Given the description of an element on the screen output the (x, y) to click on. 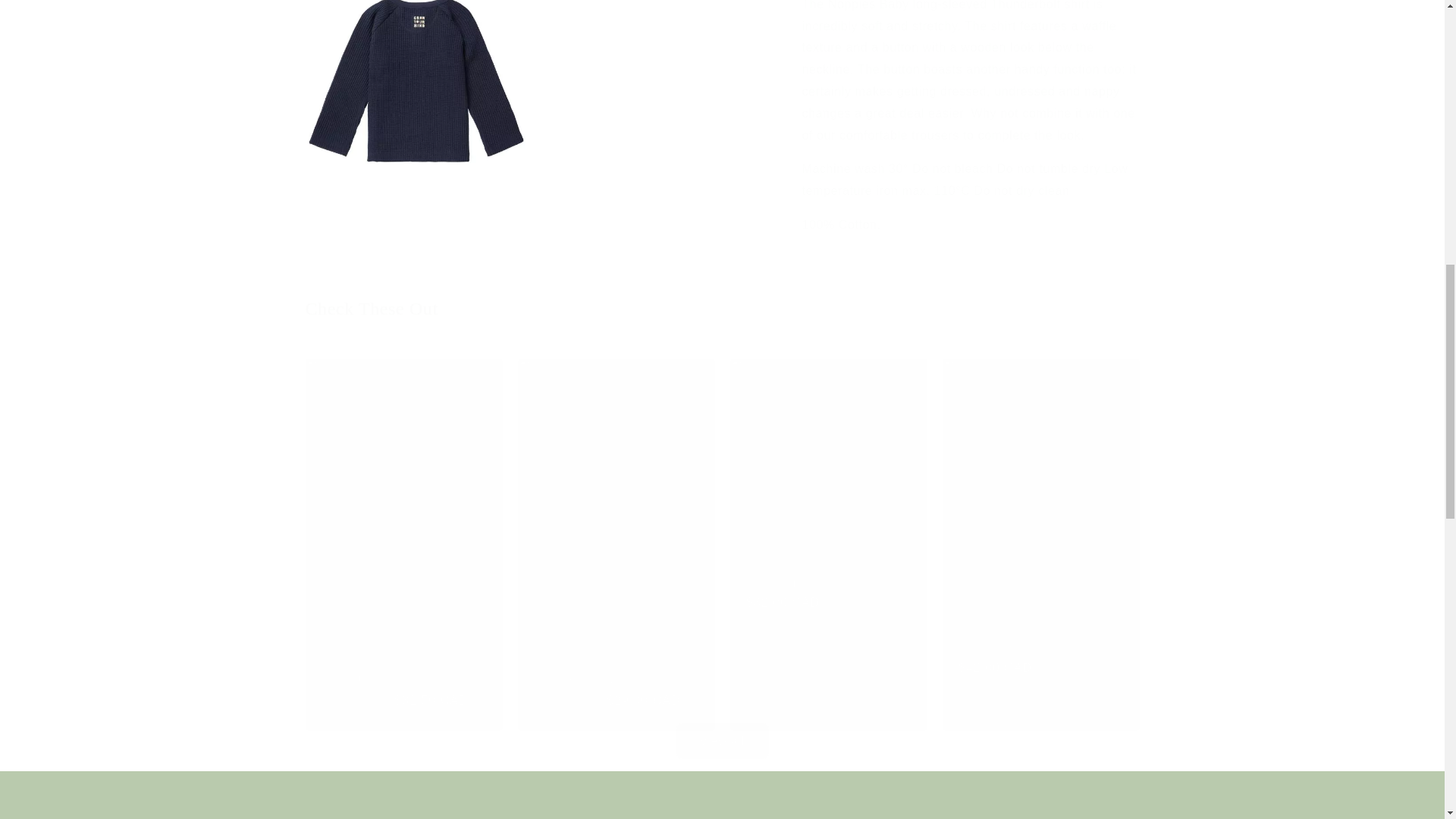
Open media 2 in modal (415, 103)
Check These Out (721, 309)
